Given the description of an element on the screen output the (x, y) to click on. 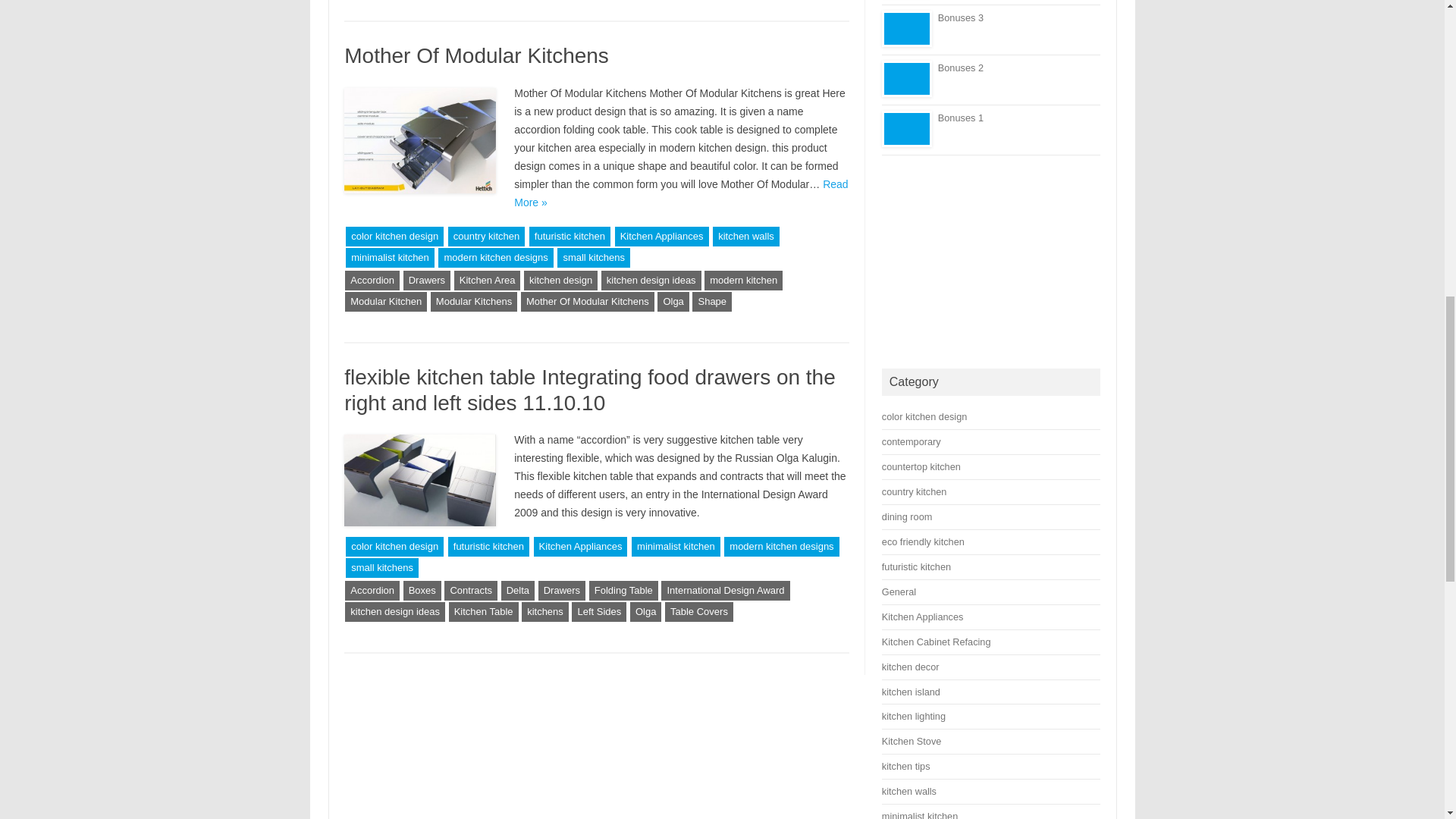
color kitchen design ideas (925, 416)
Advertisement (991, 261)
Permalink to Mother Of Modular Kitchens (475, 55)
